Given the description of an element on the screen output the (x, y) to click on. 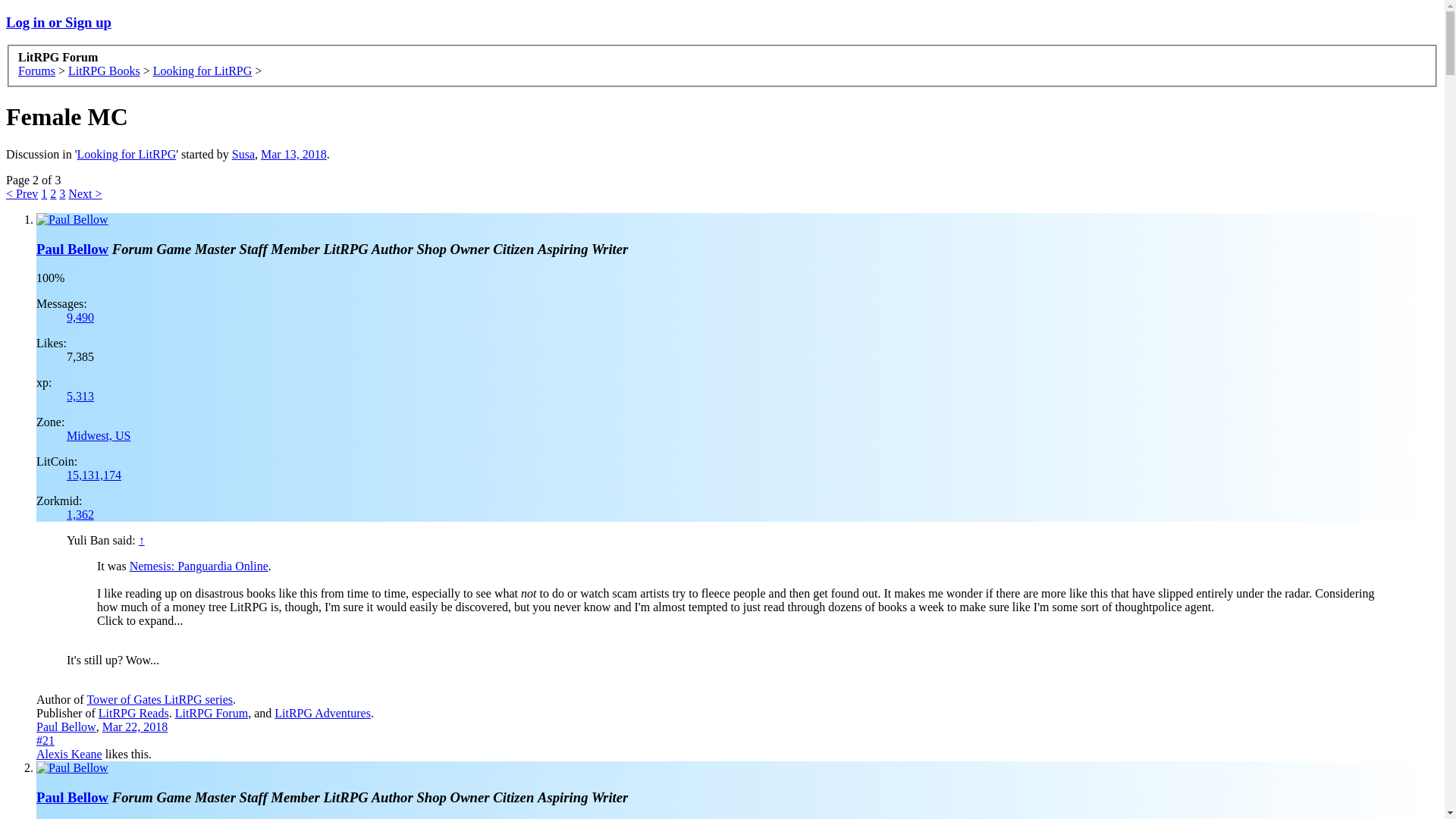
Permalink (134, 726)
Log in or Sign up (58, 22)
Permalink (45, 739)
Forums (36, 70)
9,490 (80, 317)
Paul Bellow (71, 797)
Mar 13, 2018 at 7:05 PM (293, 154)
Paul Bellow (71, 248)
5,313 (80, 395)
LitRPG Reads (133, 712)
